Given the description of an element on the screen output the (x, y) to click on. 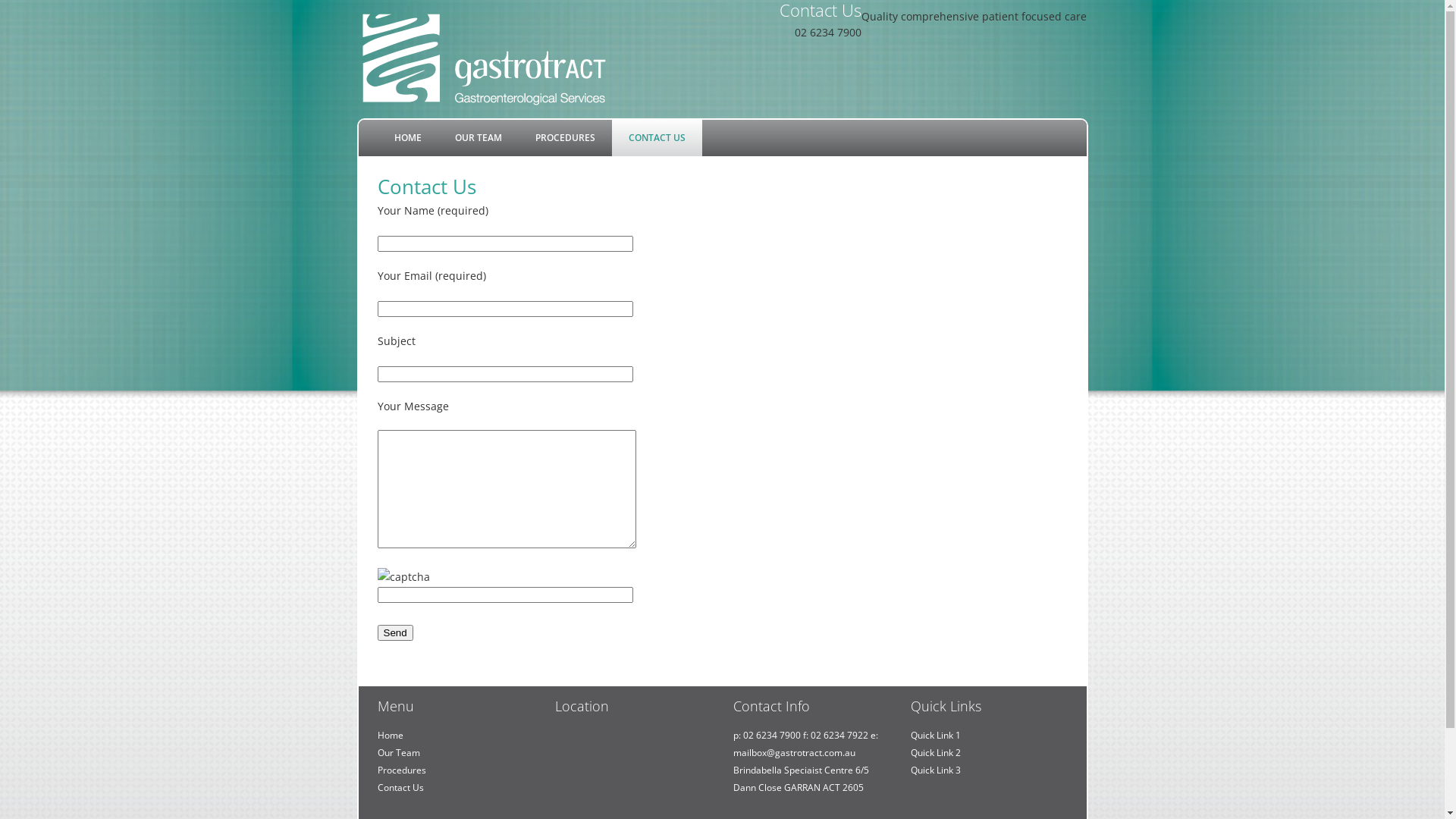
Quick Link 2 Element type: text (935, 752)
PROCEDURES Element type: text (564, 137)
Quick Link 1 Element type: text (935, 734)
Gastrotract Gastroenterological Services Element type: text (482, 59)
Our Team Element type: text (398, 752)
OUR TEAM Element type: text (478, 137)
CONTACT US Element type: text (656, 137)
Contact Us Element type: text (400, 787)
Procedures Element type: text (401, 769)
Send Element type: text (395, 632)
HOME Element type: text (407, 137)
Quick Link 3 Element type: text (935, 769)
Home Element type: text (390, 734)
